Given the description of an element on the screen output the (x, y) to click on. 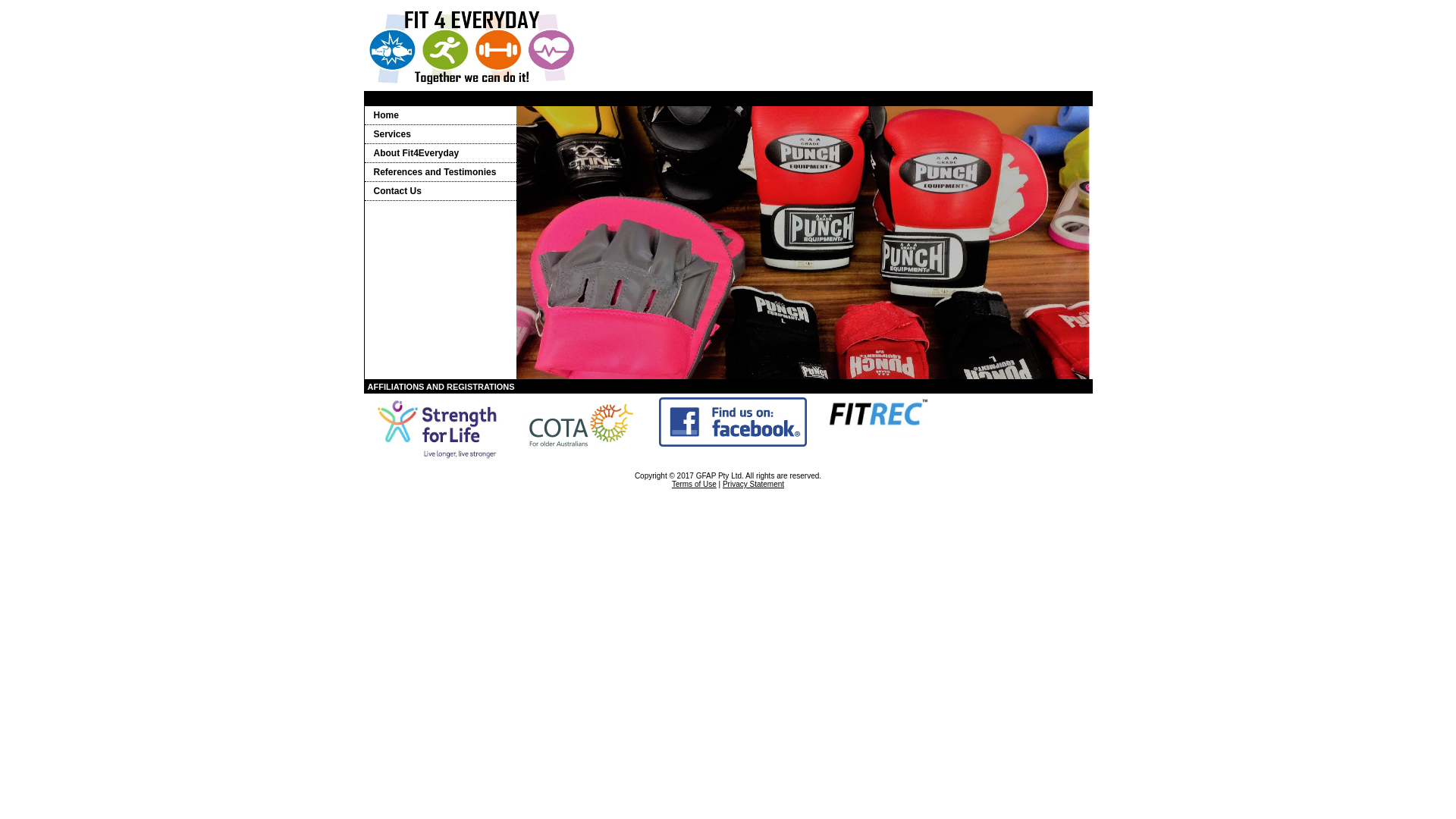
Services Element type: text (439, 134)
References and Testimonies Element type: text (439, 172)
About Fit4Everyday Element type: text (439, 153)
Privacy Statement Element type: text (753, 484)
Contact Us Element type: text (439, 191)
Terms of Use Element type: text (693, 484)
Home Element type: text (439, 115)
